Given the description of an element on the screen output the (x, y) to click on. 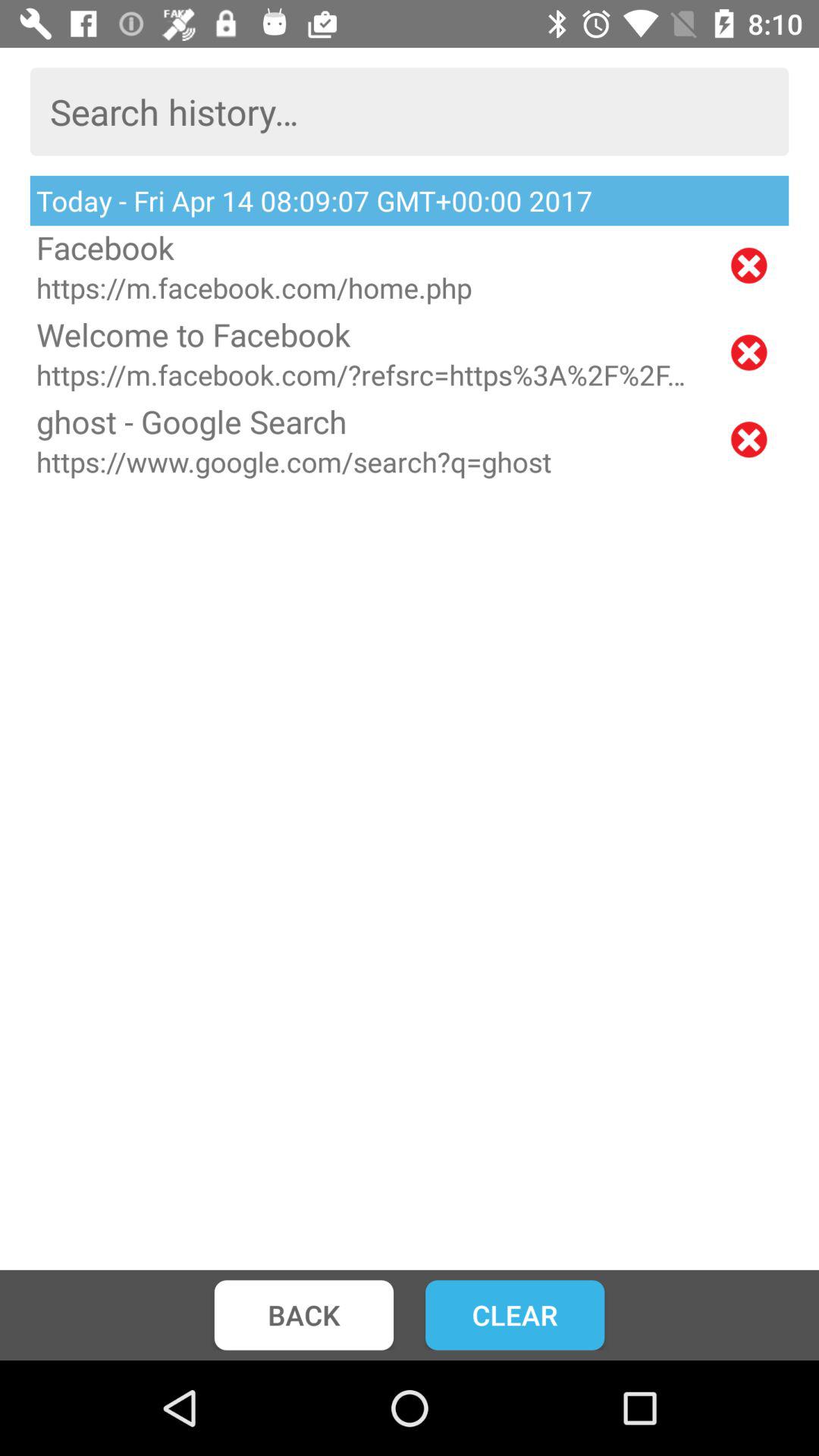
press icon to the left of clear (303, 1315)
